Given the description of an element on the screen output the (x, y) to click on. 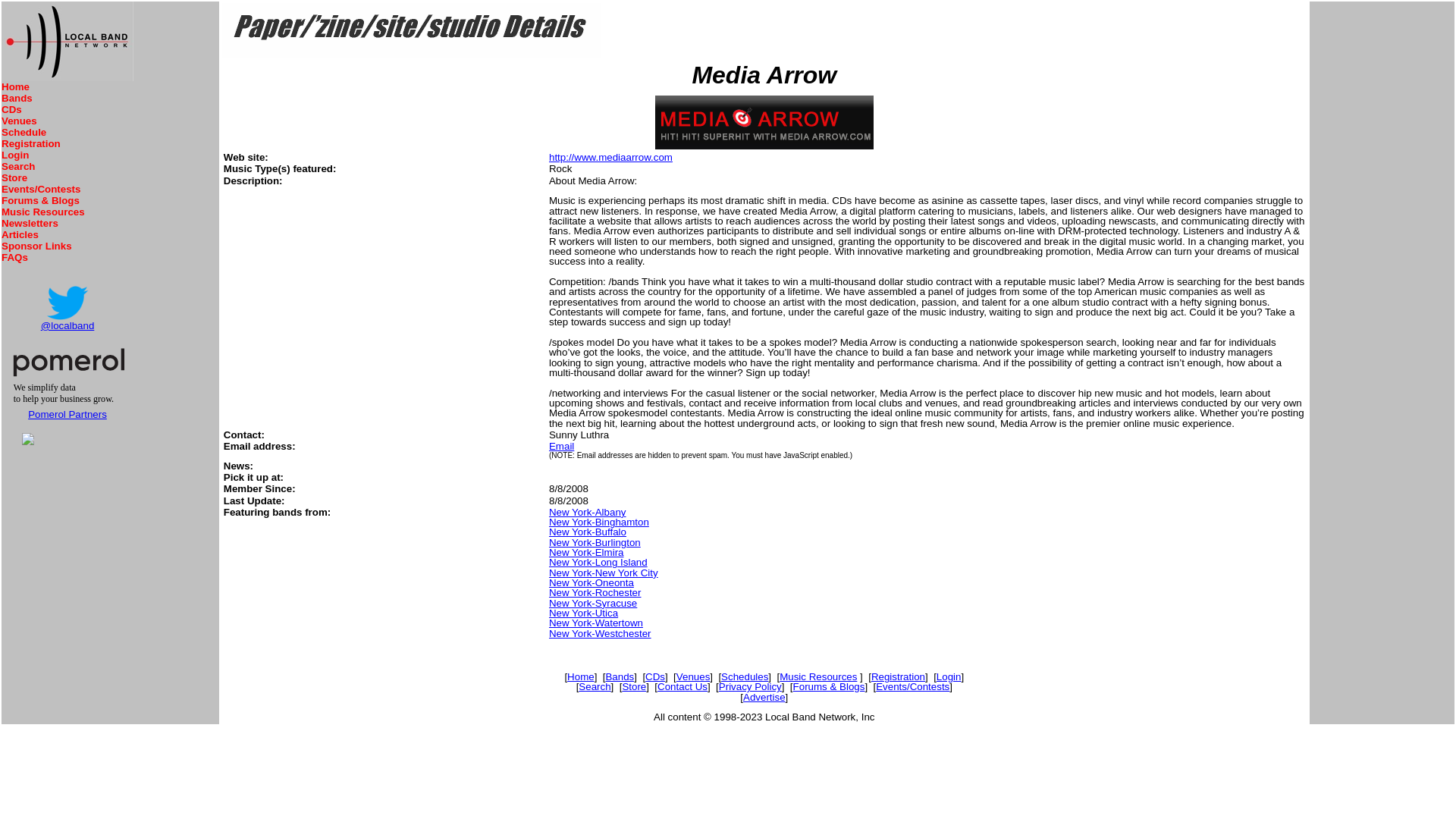
Bands (619, 676)
Bands (16, 98)
CDs (11, 109)
Sponsor Links (36, 245)
New York-Watertown (595, 622)
Venues (19, 120)
Login (15, 154)
New York-Albany (587, 511)
New York-Burlington (594, 542)
New York-Syracuse (592, 603)
New York-Elmira (586, 552)
New York-Oneonta (590, 582)
New York-New York City (603, 572)
Music Resources (42, 211)
New York-Rochester (595, 592)
